Given the description of an element on the screen output the (x, y) to click on. 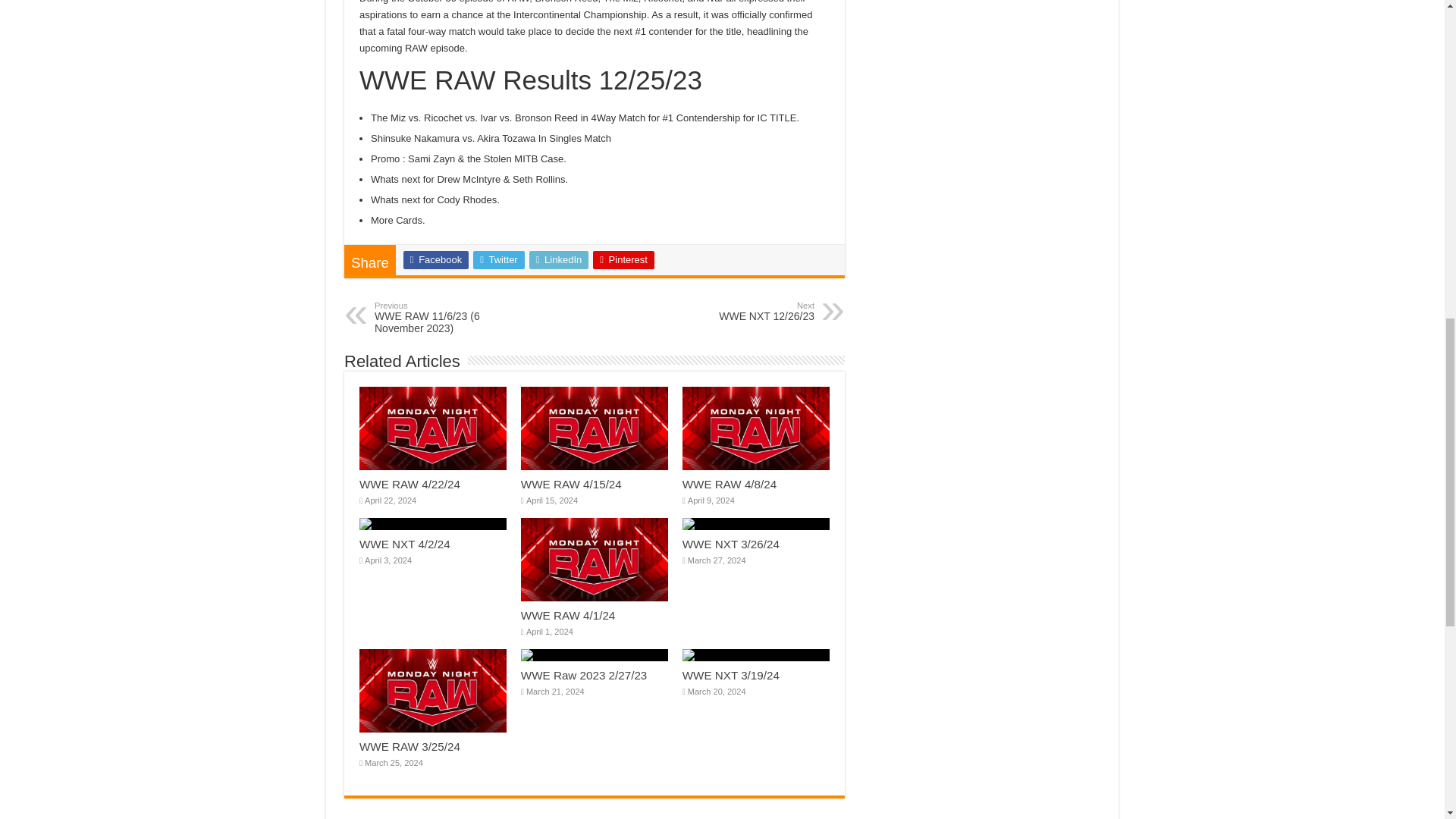
LinkedIn (559, 259)
Facebook (435, 259)
Twitter (498, 259)
Pinterest (622, 259)
